Given the description of an element on the screen output the (x, y) to click on. 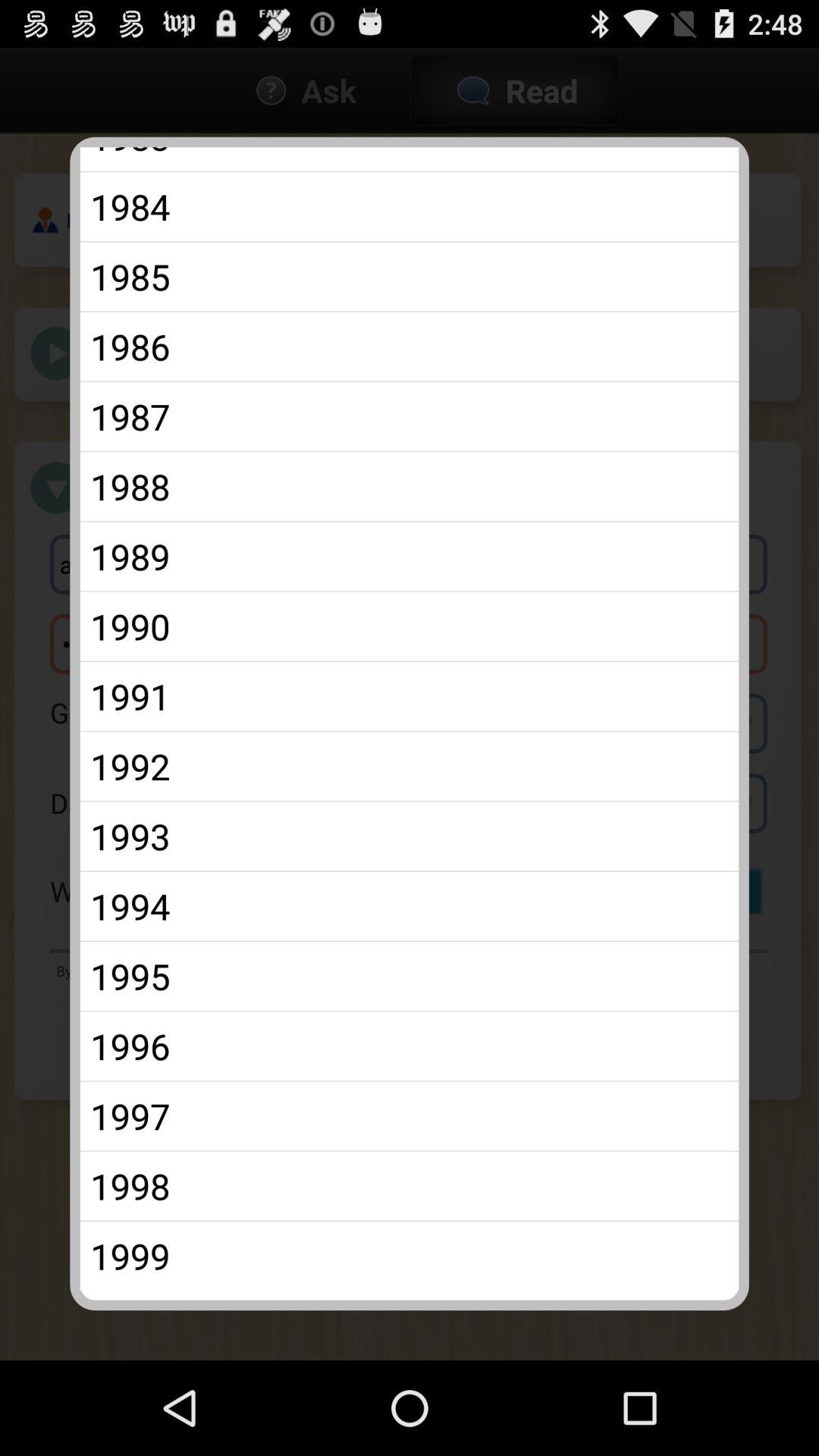
launch the item above the 1995 (409, 905)
